Given the description of an element on the screen output the (x, y) to click on. 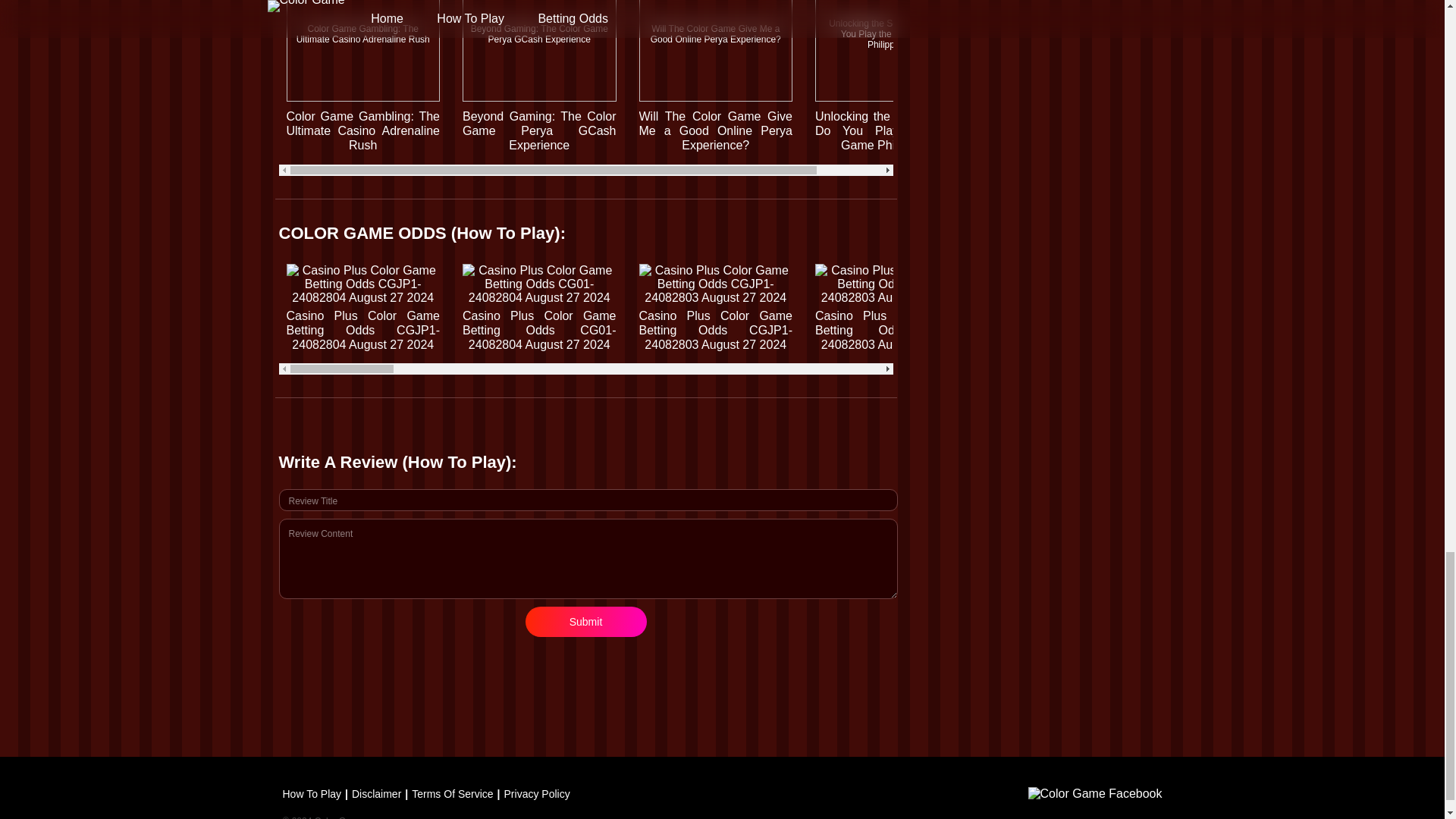
How To Play (311, 793)
Disclaimer (370, 793)
Submit (585, 621)
